Given the description of an element on the screen output the (x, y) to click on. 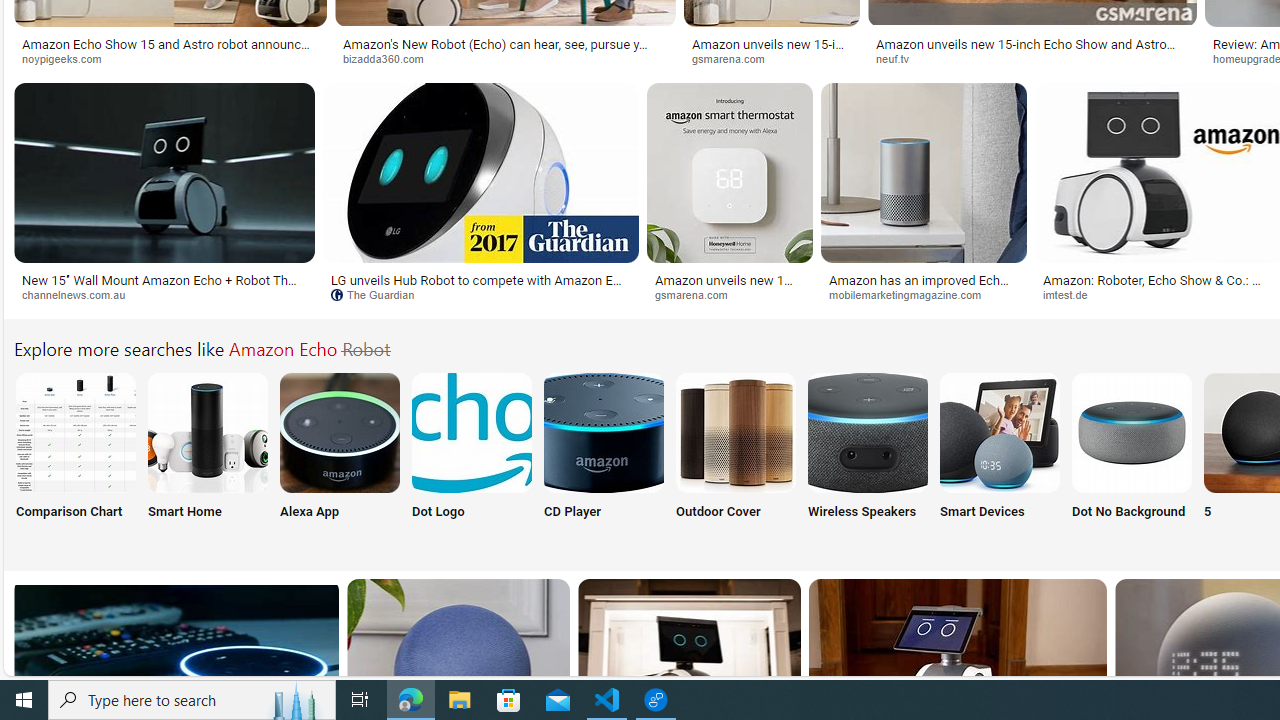
Amazon Echo Wireless Speakers (867, 432)
The Guardian (481, 295)
Amazon Echo Smart Devices Smart Devices (999, 458)
Amazon Echo Show 15 and Astro robot announced | NoypiGeeks (170, 50)
Amazon Echo Comparison Chart (75, 432)
Outdoor Cover (735, 457)
Image result for Amazon Echo Robot (923, 172)
channelnews.com.au (80, 294)
imtest.de (1072, 294)
Amazon Echo Comparison Chart Comparison Chart (75, 458)
Amazon Echo with CD Player (604, 432)
